Given the description of an element on the screen output the (x, y) to click on. 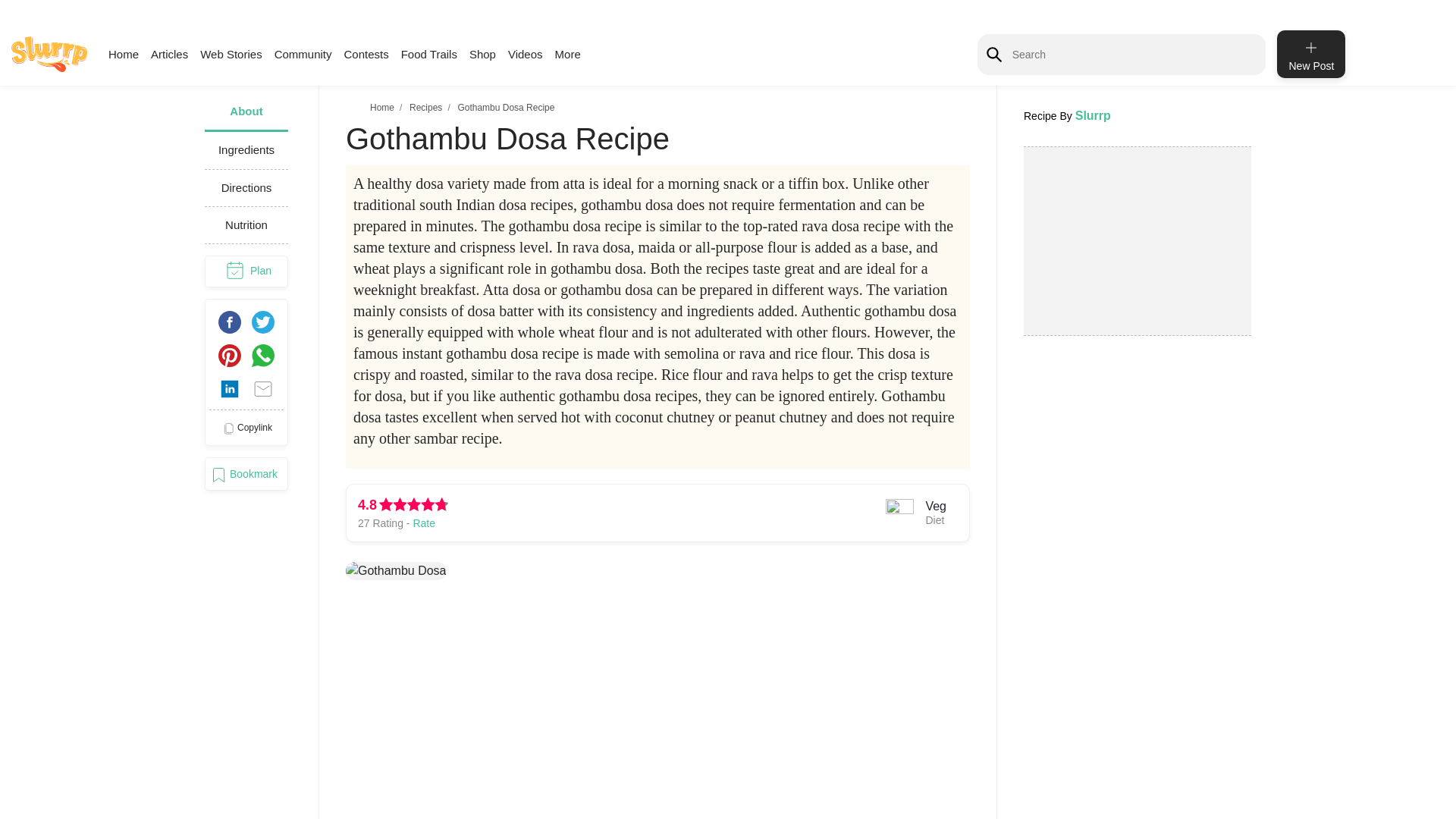
Home (122, 53)
copy link (246, 427)
Articles (169, 53)
Contests (365, 53)
Gothambu Dosa (396, 570)
Videos (525, 53)
New Post (1310, 53)
Community (303, 53)
Shop (482, 53)
Copylink (246, 427)
